Given the description of an element on the screen output the (x, y) to click on. 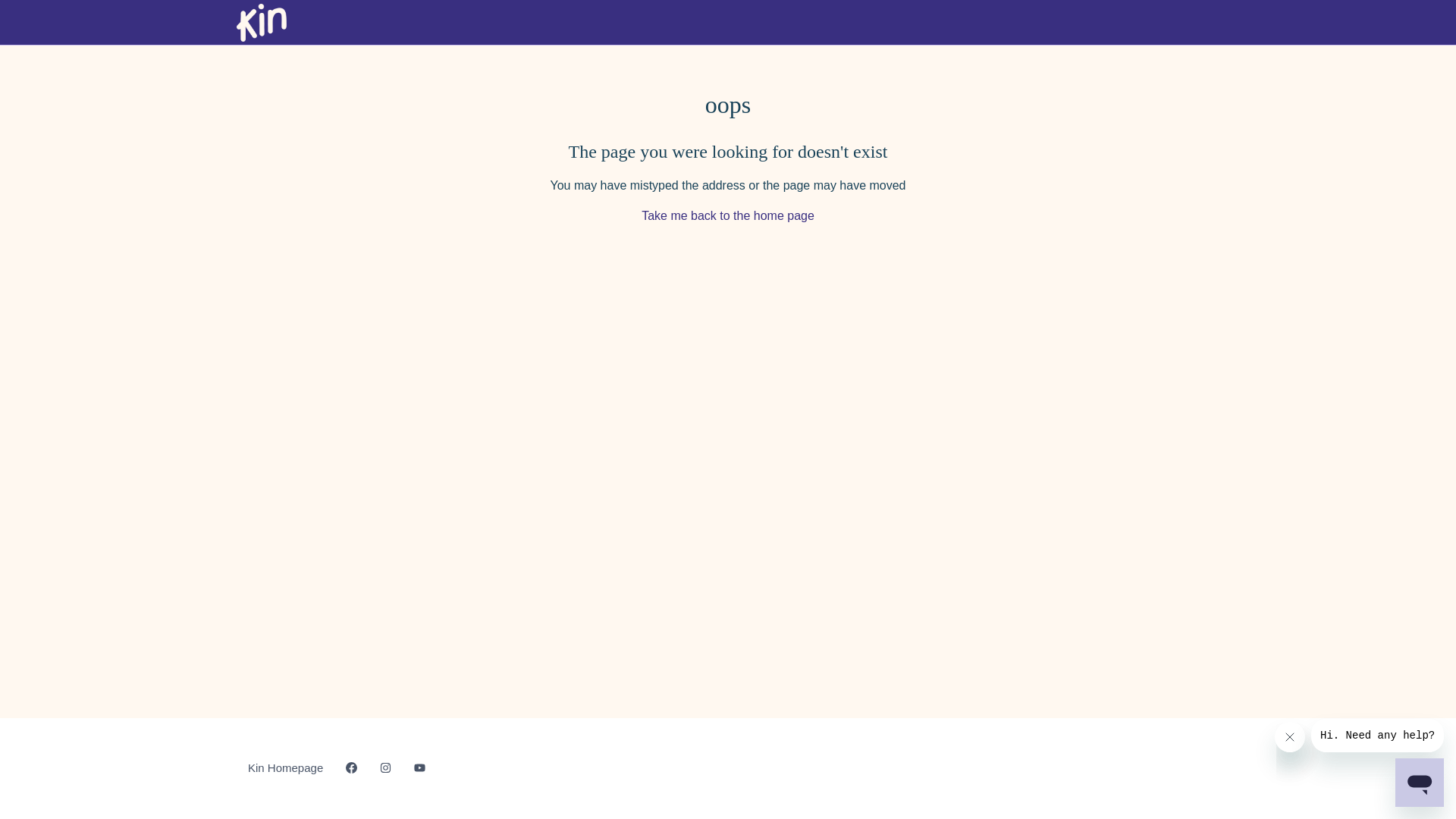
Skip to main content Element type: text (0, 0)
Close message Element type: hover (1289, 736)
Take me back to the home page Element type: text (727, 215)
Kin Homepage Element type: text (285, 767)
Message from company Element type: hover (1377, 735)
Button to launch messaging window Element type: hover (1419, 782)
